Given the description of an element on the screen output the (x, y) to click on. 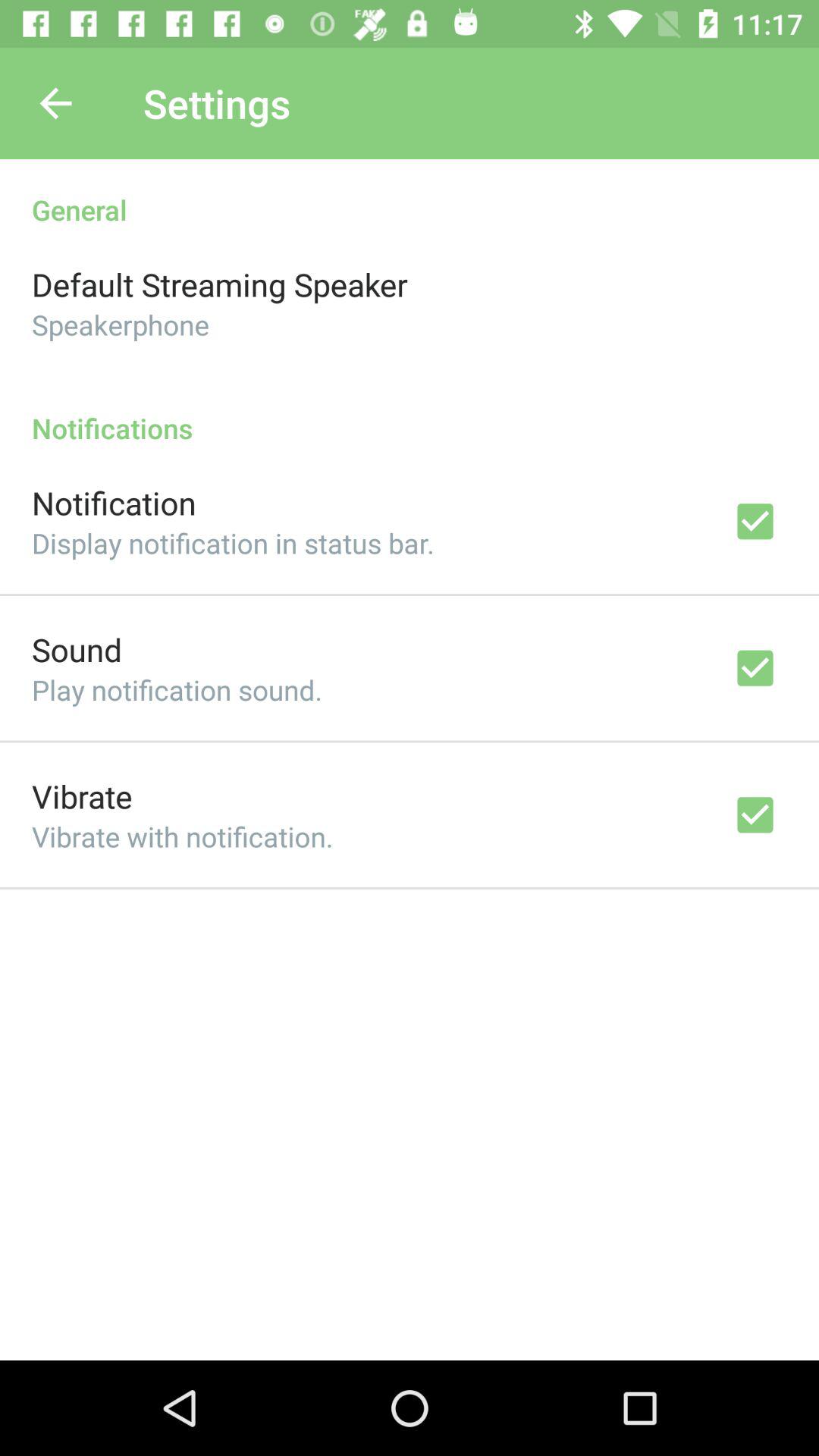
turn off the vibrate with notification. icon (182, 836)
